Given the description of an element on the screen output the (x, y) to click on. 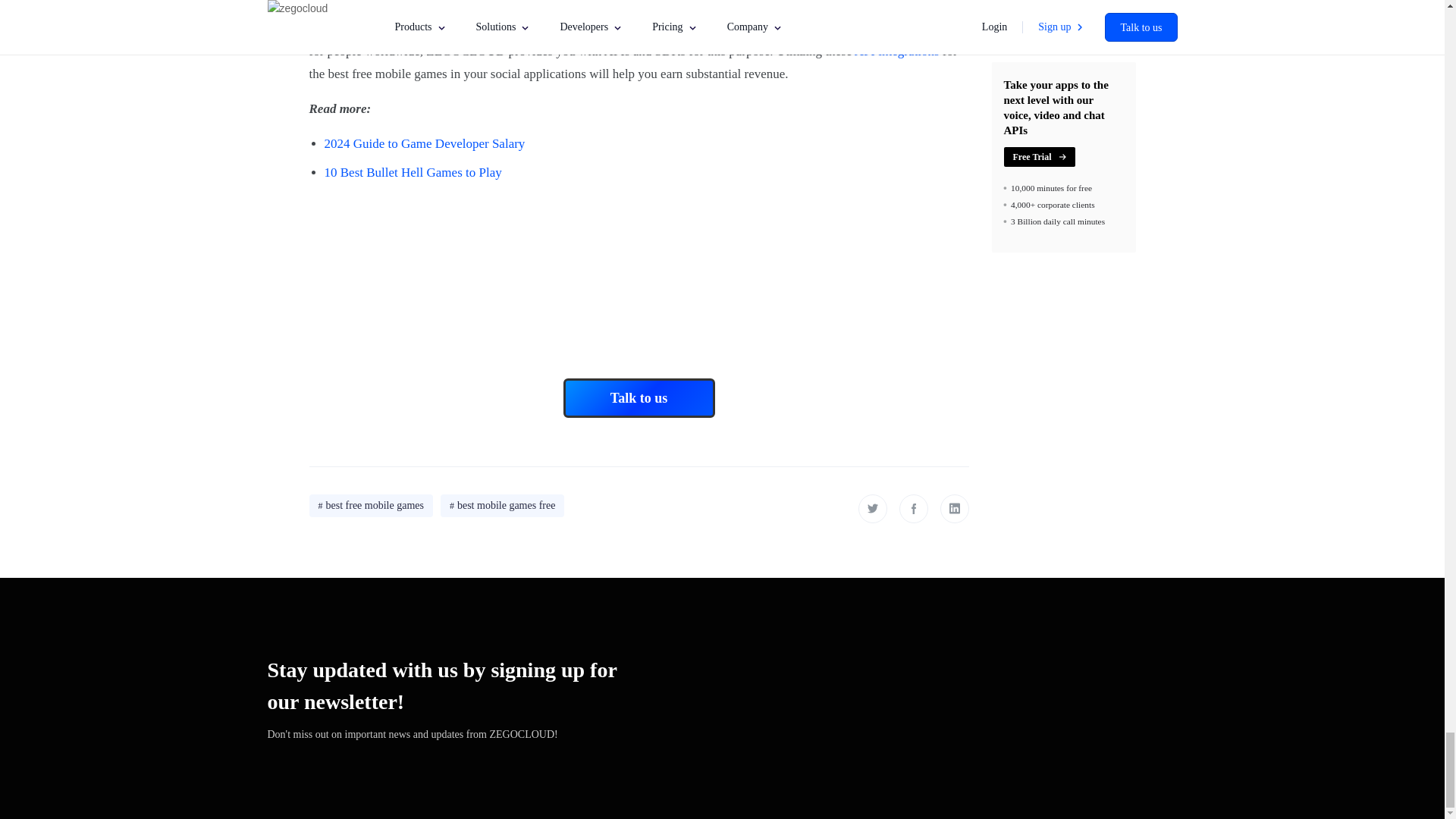
game APs (930, 28)
API integrations (896, 51)
2024 Guide to Game Developer Salary (424, 143)
10 Best Bullet Hell Games to Play (413, 172)
